Given the description of an element on the screen output the (x, y) to click on. 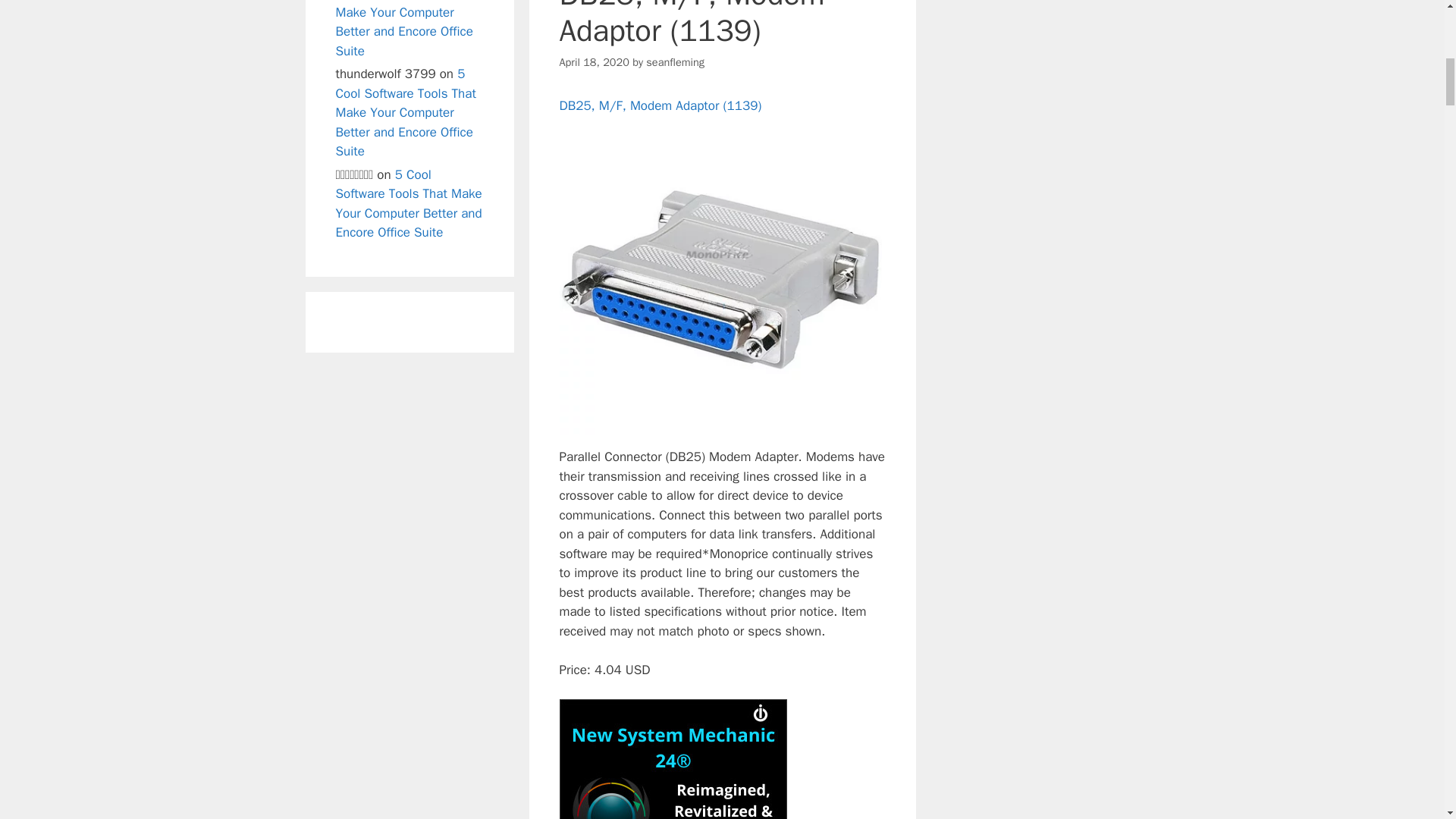
6:40 pm (593, 61)
View all posts by seanfleming (675, 61)
seanfleming (675, 61)
April 18, 2020 (593, 61)
